Given the description of an element on the screen output the (x, y) to click on. 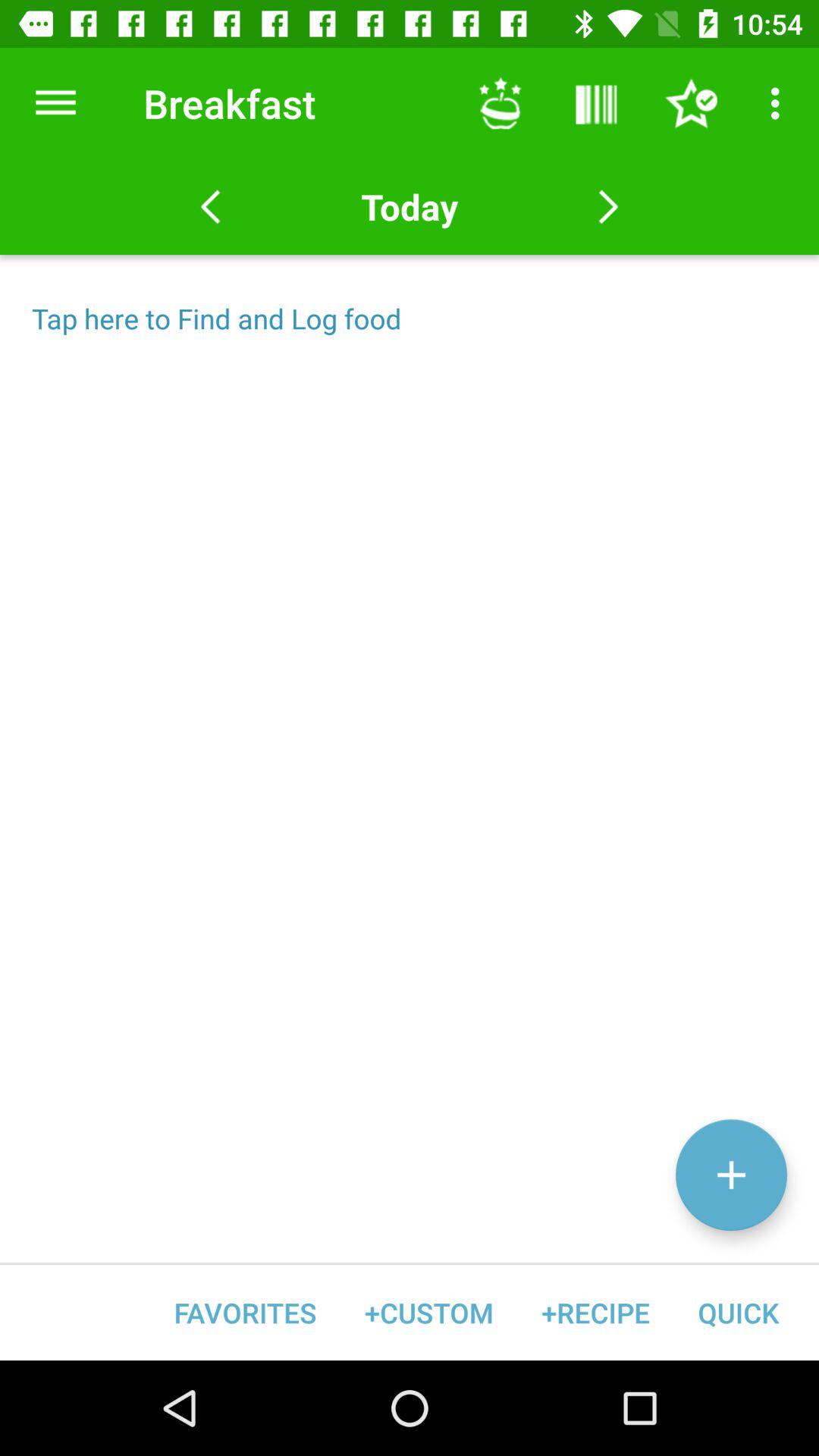
open item next to +custom item (595, 1312)
